Given the description of an element on the screen output the (x, y) to click on. 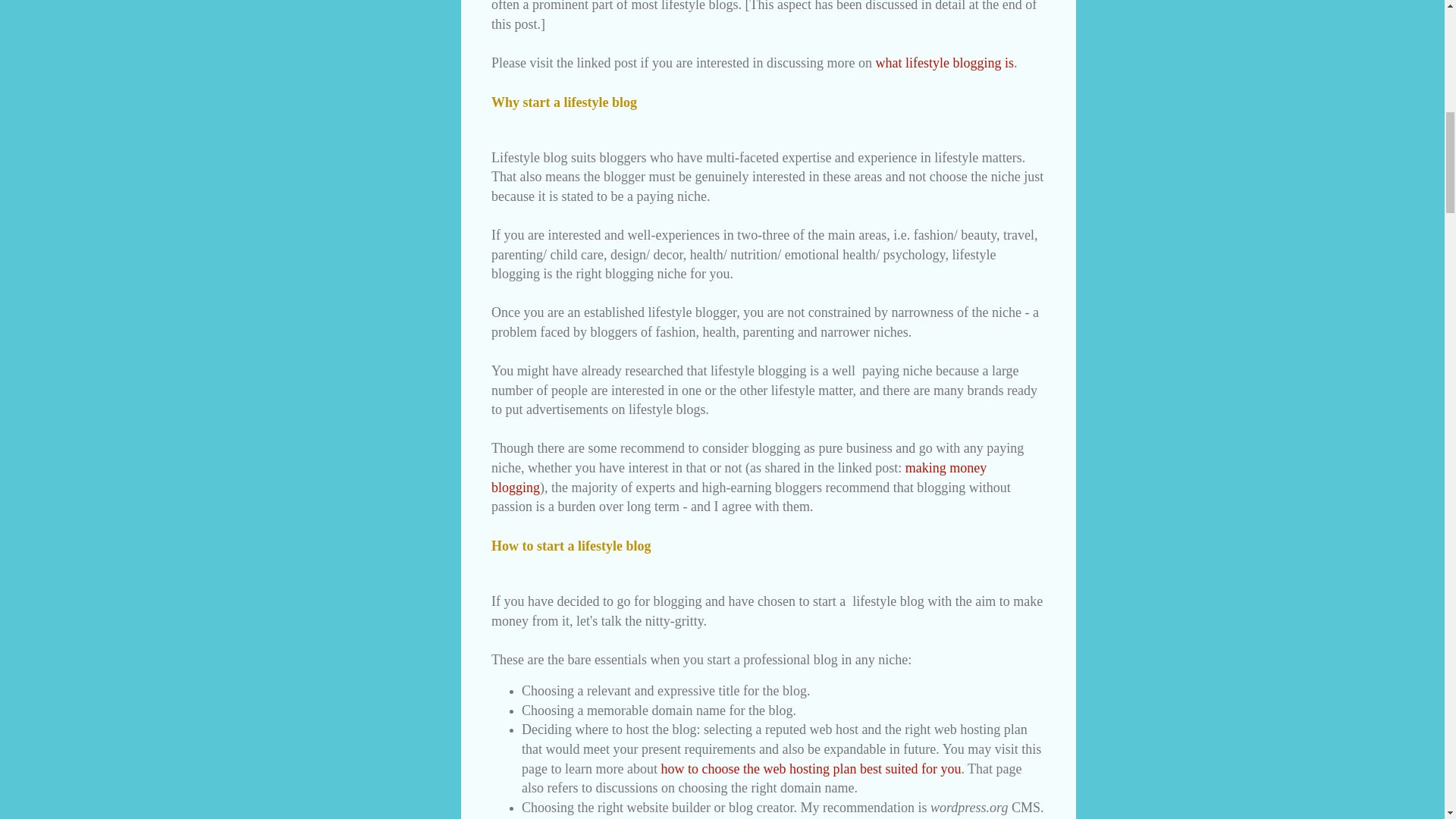
how to choose the web hosting plan best suited for you (810, 768)
making money blogging (739, 477)
what lifestyle blogging is (944, 62)
